Given the description of an element on the screen output the (x, y) to click on. 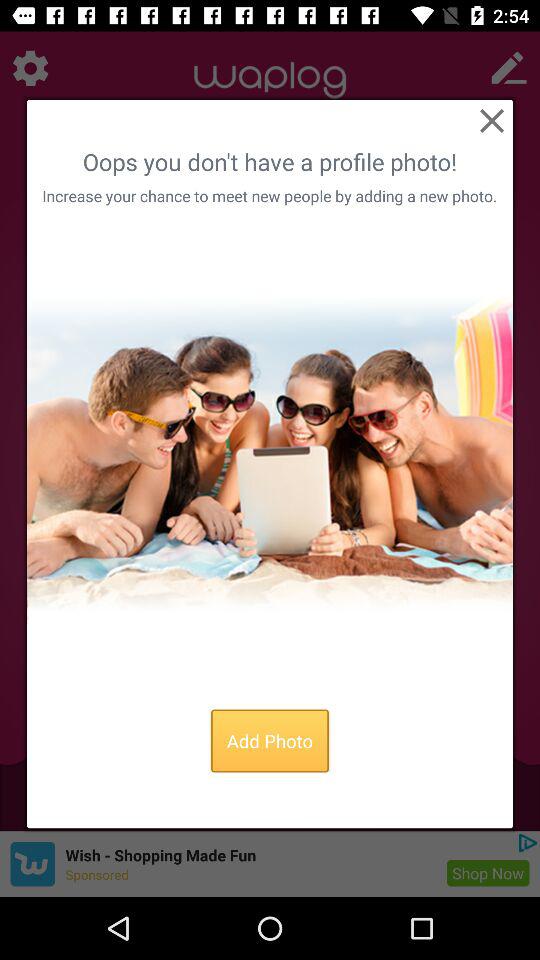
swipe until add photo (269, 740)
